Given the description of an element on the screen output the (x, y) to click on. 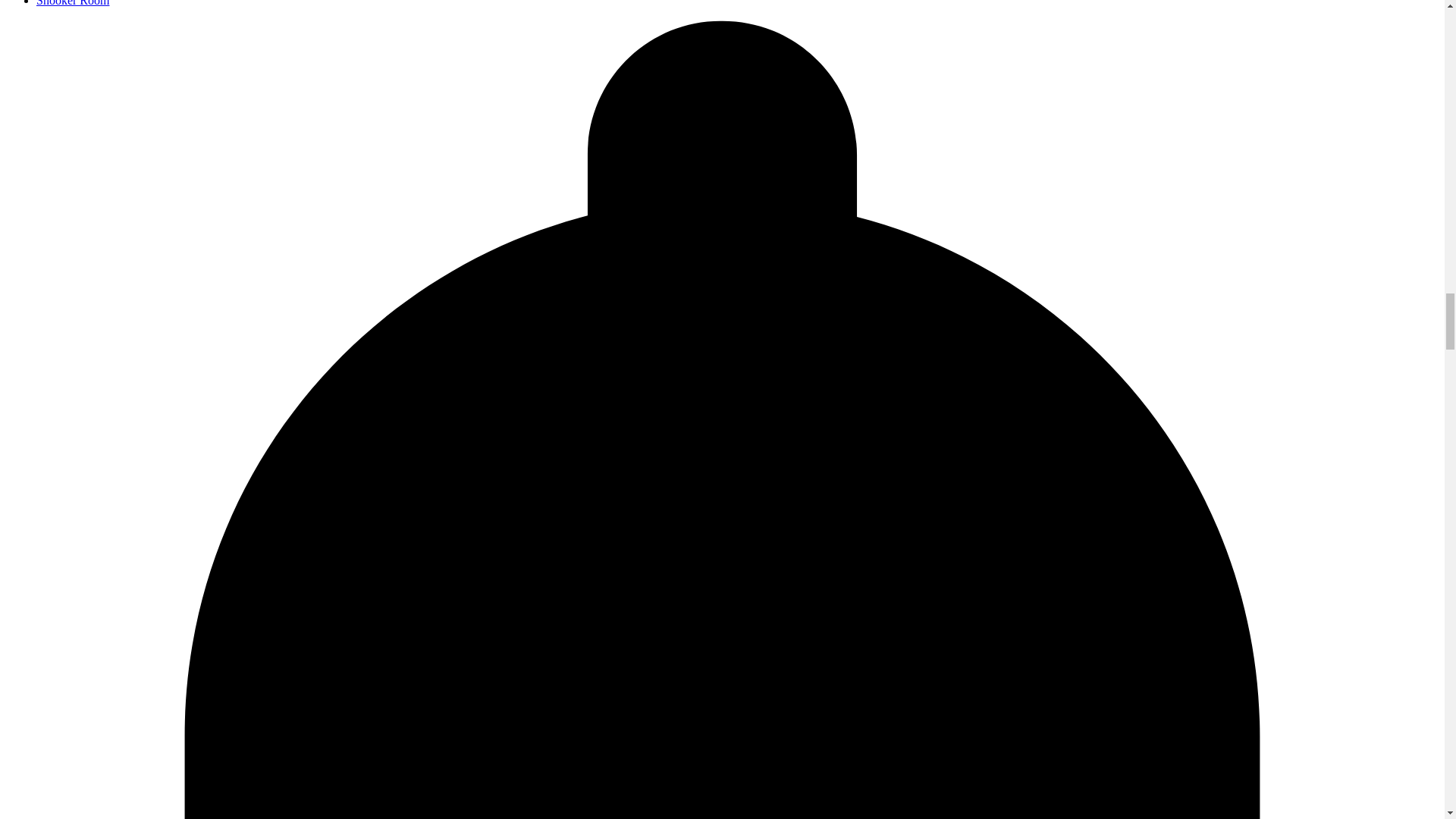
Snooker Room (72, 3)
